Given the description of an element on the screen output the (x, y) to click on. 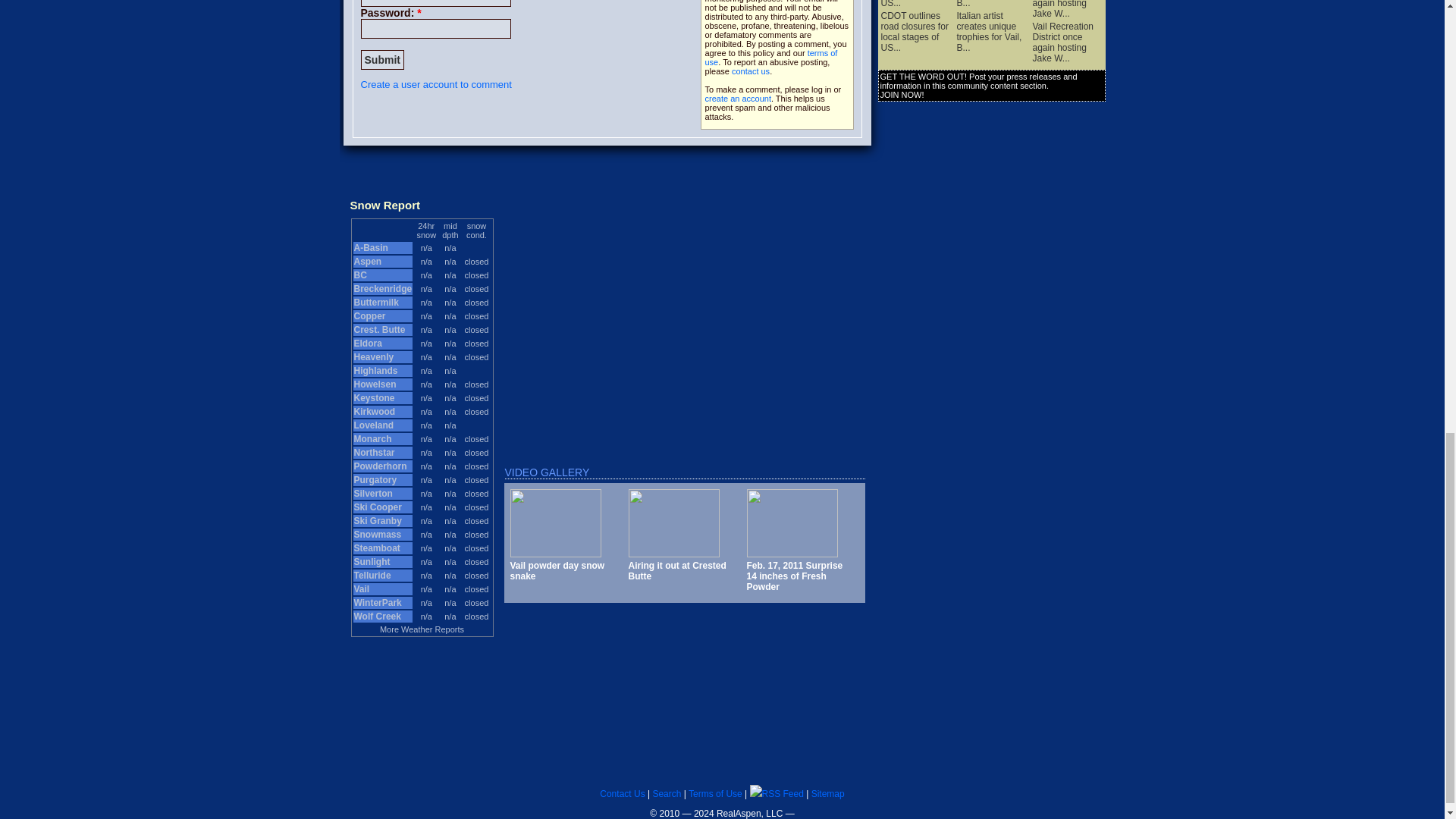
terms of use (771, 57)
contact us (751, 71)
create an account (737, 98)
Submit (382, 59)
Click here to join and comment (436, 84)
create account to comment (737, 98)
Submit (382, 59)
Create a user account to comment (436, 84)
